Given the description of an element on the screen output the (x, y) to click on. 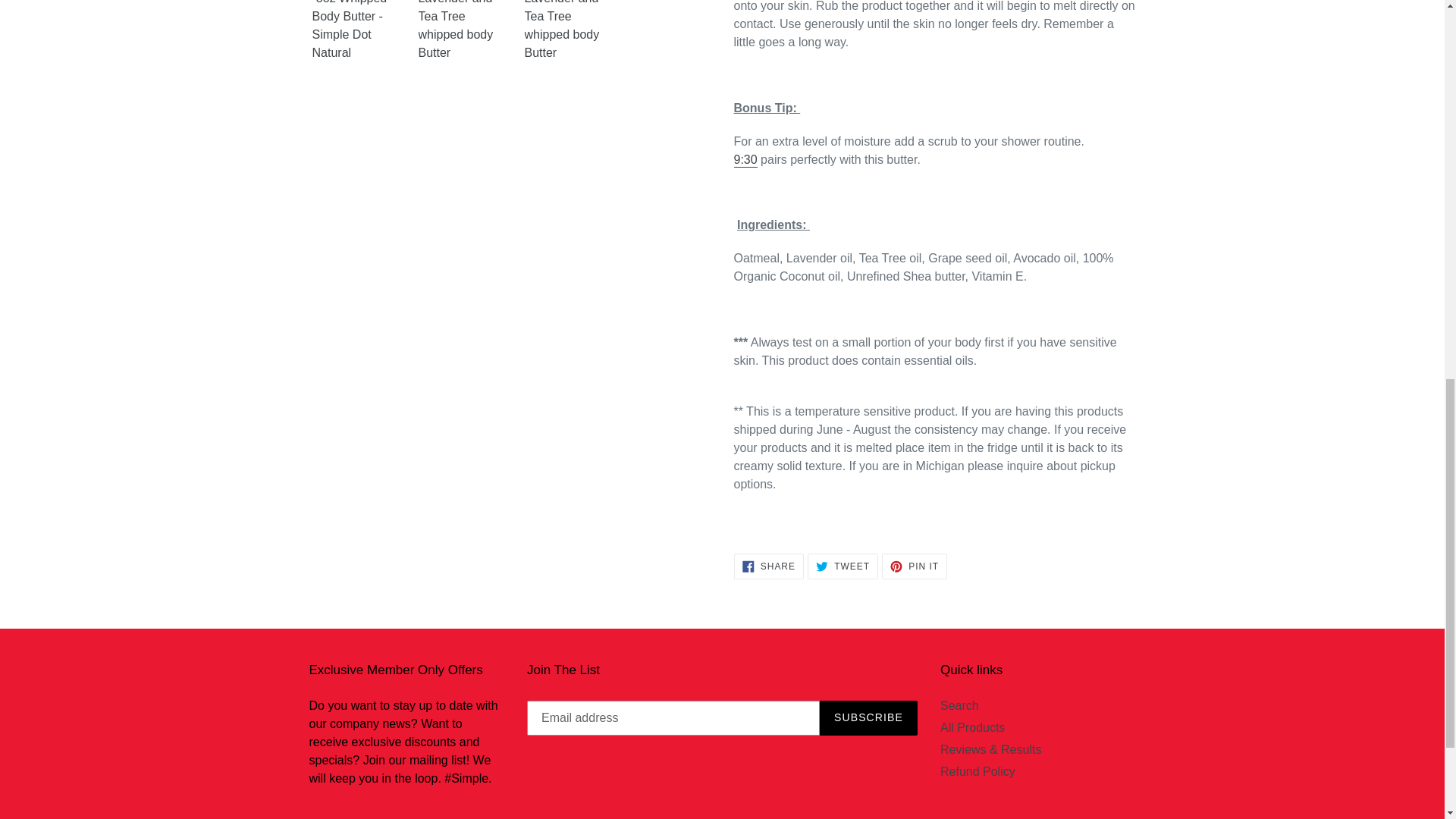
9:30- Botanical Exfoliating Body Scrub (745, 160)
